Given the description of an element on the screen output the (x, y) to click on. 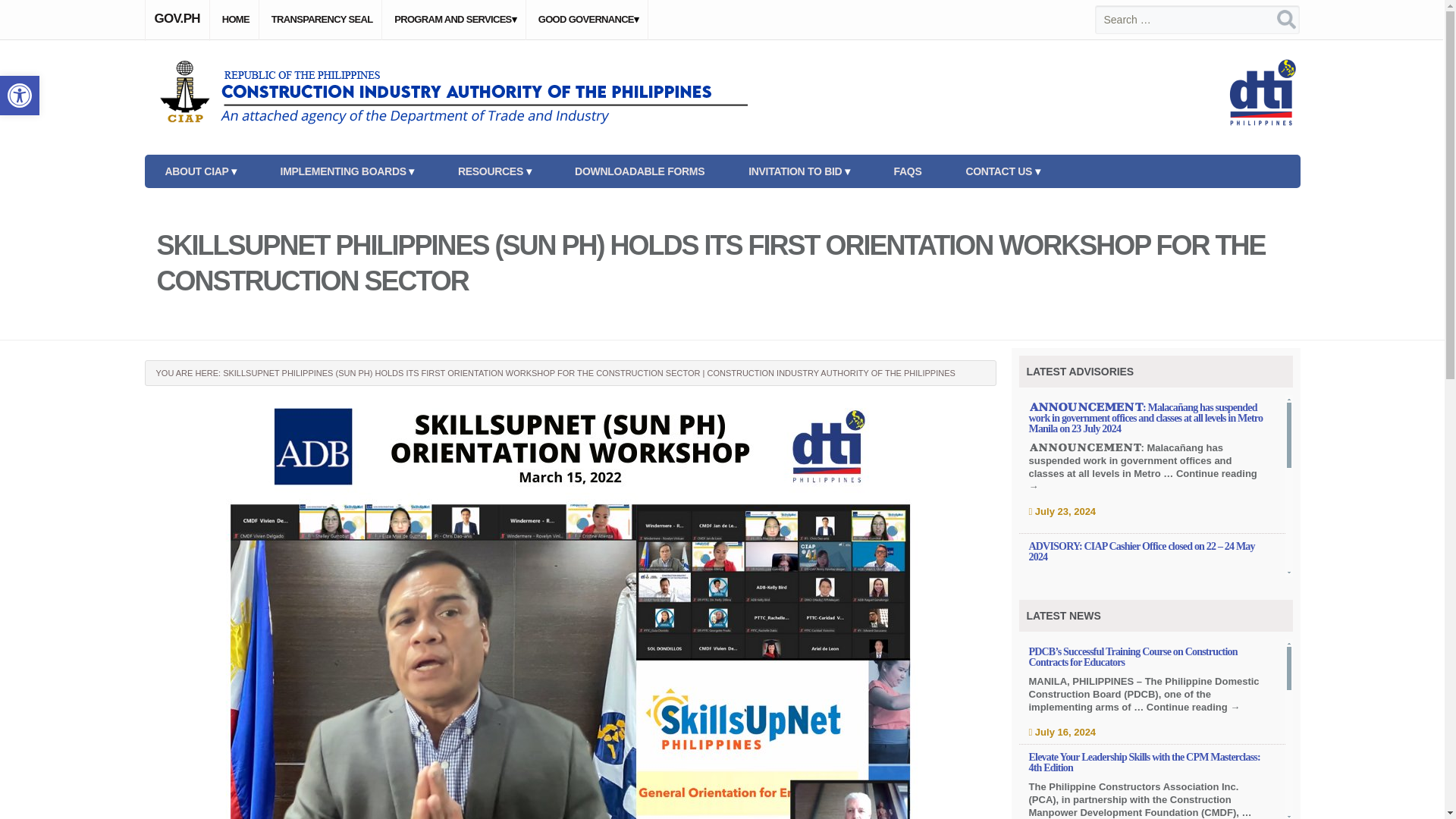
PROGRAM AND SERVICES (455, 19)
Read More.. (1147, 657)
Search (34, 15)
GOOD GOVERNANCE (588, 19)
Read More.. (1147, 762)
Read More.. (1147, 758)
ABOUT CIAP (200, 171)
TRANSPARENCY SEAL (321, 19)
HOME (235, 19)
GOV.PH (177, 18)
